Given the description of an element on the screen output the (x, y) to click on. 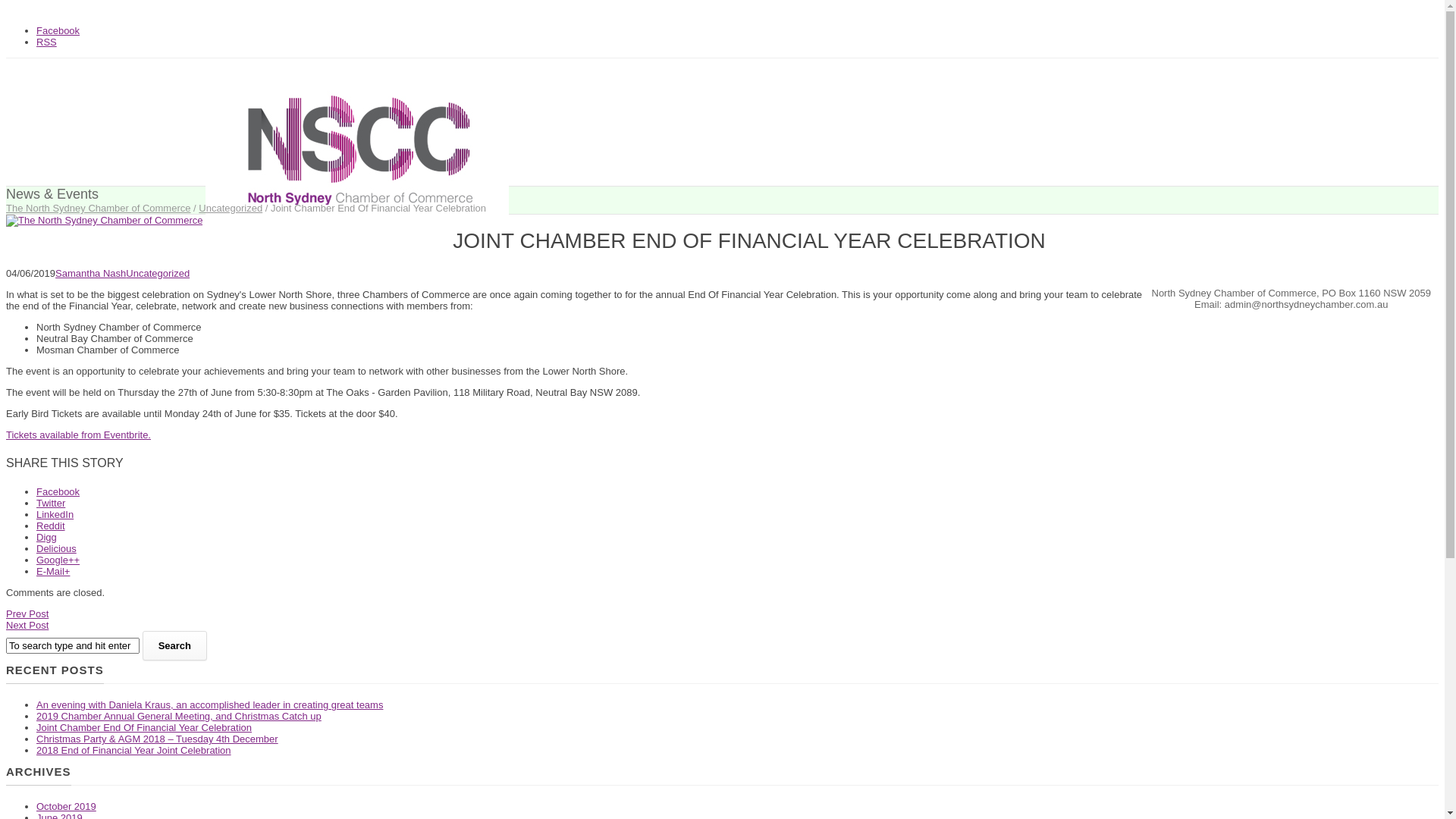
Tickets available from Eventbrite. Element type: text (78, 434)
Delicious Element type: text (56, 548)
Facebook Element type: text (57, 30)
The North Sydney Chamber of Commerce Element type: text (98, 207)
LinkedIn Element type: text (54, 514)
October 2019 Element type: text (66, 806)
Samantha Nash Element type: text (90, 272)
About Element type: text (121, 241)
Google++ Element type: text (57, 559)
Twitter Element type: text (50, 502)
Join Now Element type: text (184, 241)
Prev Post Element type: text (27, 613)
RSS Element type: text (46, 41)
Reddit Element type: text (50, 525)
E-Mail+ Element type: text (52, 571)
Uncategorized Element type: text (230, 207)
2019 Chamber Annual General Meeting, and Christmas Catch up Element type: text (178, 715)
Contact Element type: text (420, 241)
Digg Element type: text (46, 536)
2018 End of Financial Year Joint Celebration Element type: text (133, 750)
Next Post Element type: text (27, 624)
Uncategorized Element type: text (157, 272)
Joint Chamber End Of Financial Year Celebration Element type: text (143, 727)
News & Events Element type: text (339, 241)
Members Element type: text (255, 241)
Facebook Element type: text (57, 491)
Search Element type: text (174, 645)
Home Element type: text (64, 241)
